Given the description of an element on the screen output the (x, y) to click on. 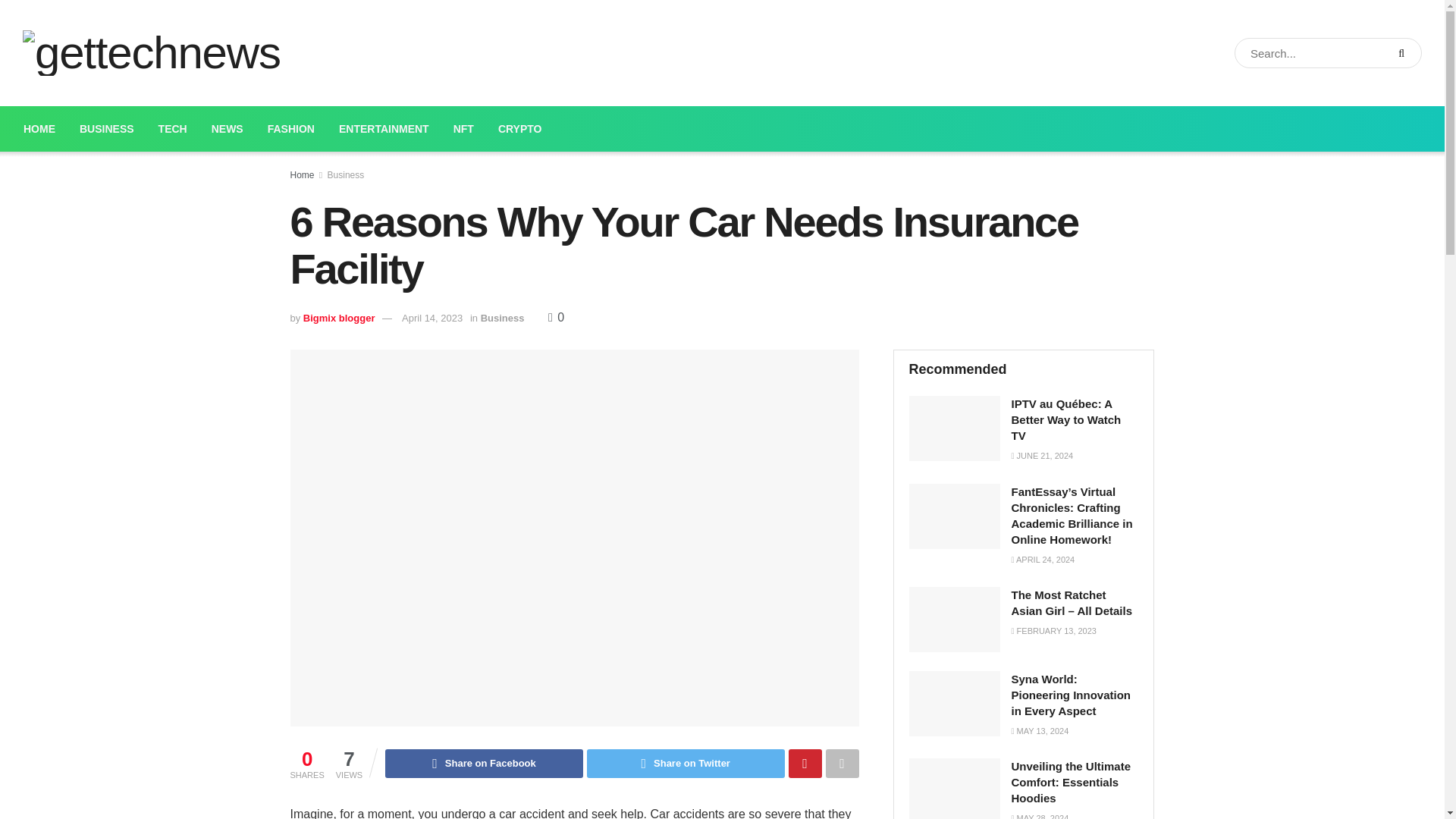
Home (301, 174)
CRYPTO (520, 128)
April 14, 2023 (432, 317)
BUSINESS (106, 128)
NEWS (227, 128)
Business (346, 174)
FASHION (291, 128)
NFT (463, 128)
0 (556, 317)
TECH (173, 128)
ENTERTAINMENT (383, 128)
HOME (38, 128)
Bigmix blogger (338, 317)
Business (502, 317)
